Given the description of an element on the screen output the (x, y) to click on. 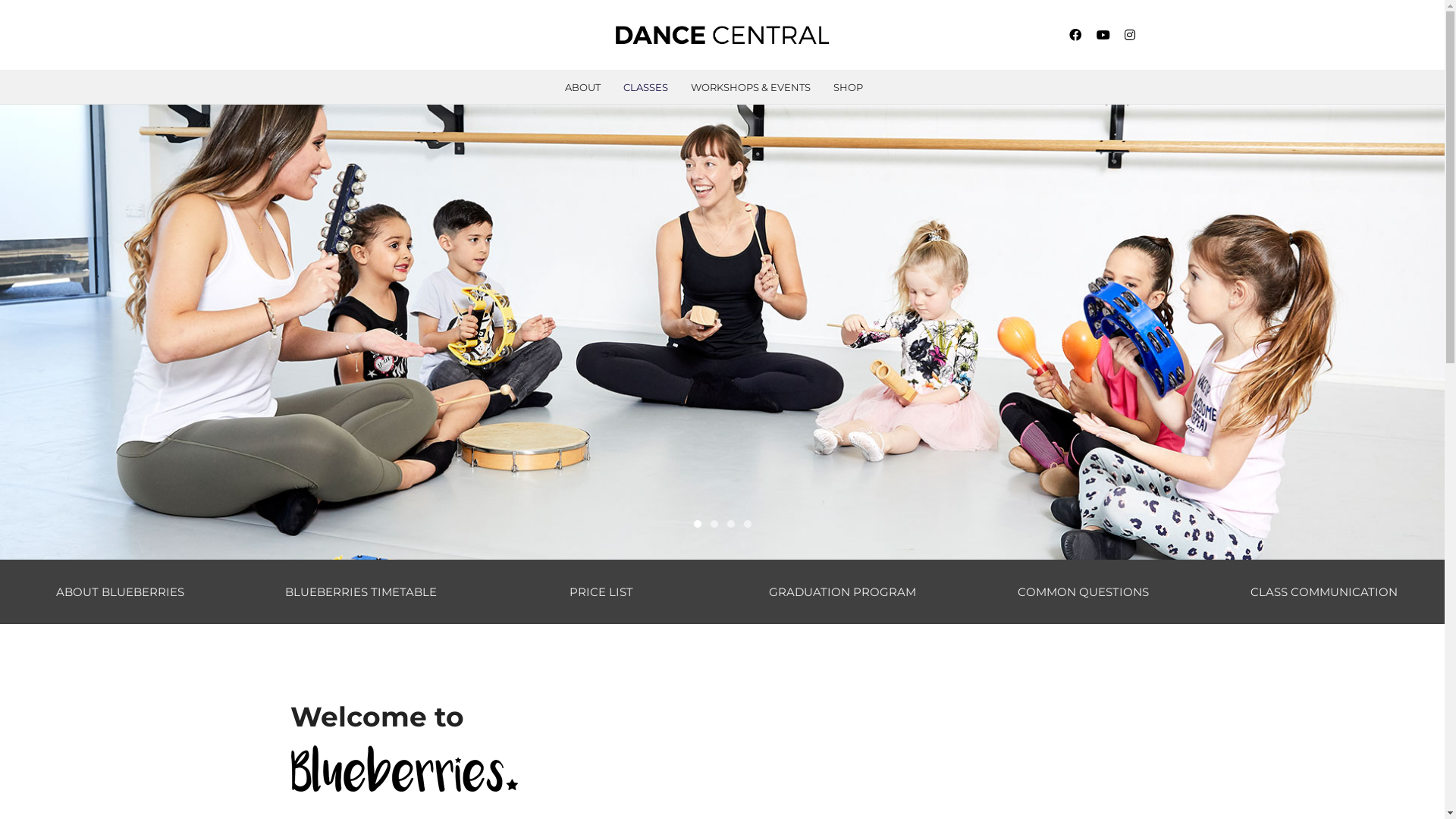
BLUEBERRIES TIMETABLE Element type: text (360, 591)
CLASS COMMUNICATION Element type: text (1323, 591)
CLASSES Element type: text (644, 86)
SHOP Element type: text (848, 86)
COMMON QUESTIONS Element type: text (1082, 591)
ABOUT BLUEBERRIES Element type: text (120, 591)
PRICE LIST Element type: text (600, 591)
GRADUATION PROGRAM Element type: text (841, 591)
WORKSHOPS & EVENTS Element type: text (750, 86)
ABOUT Element type: text (582, 86)
